Given the description of an element on the screen output the (x, y) to click on. 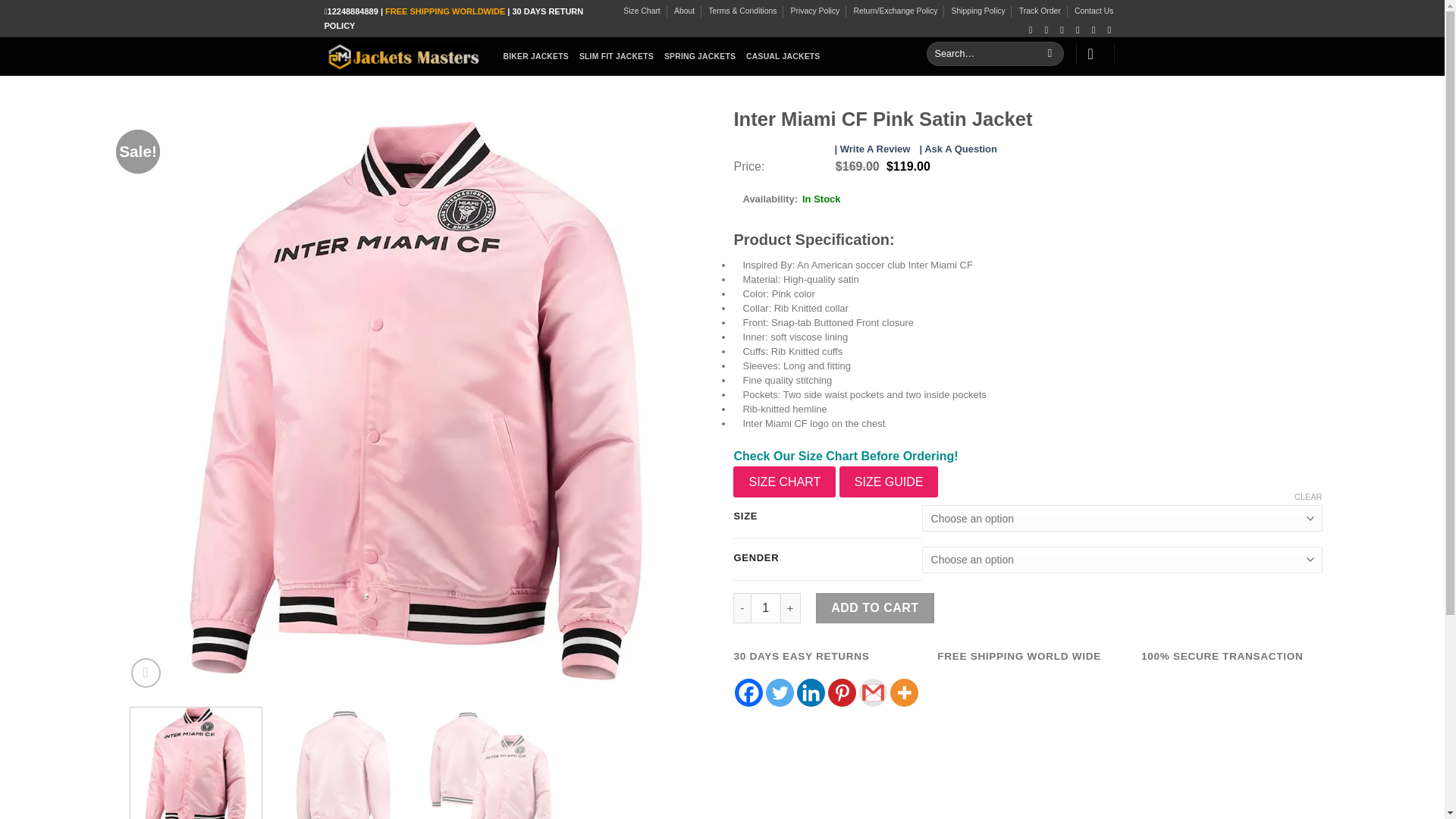
CLEAR (1308, 496)
Contact Us (1093, 11)
SIZE GUIDE (889, 481)
Track Order (1040, 11)
SLIM FIT JACKETS (616, 56)
Shipping Policy (979, 11)
Size Chart (642, 11)
Zoom (145, 672)
CASUAL JACKETS (782, 56)
